Given the description of an element on the screen output the (x, y) to click on. 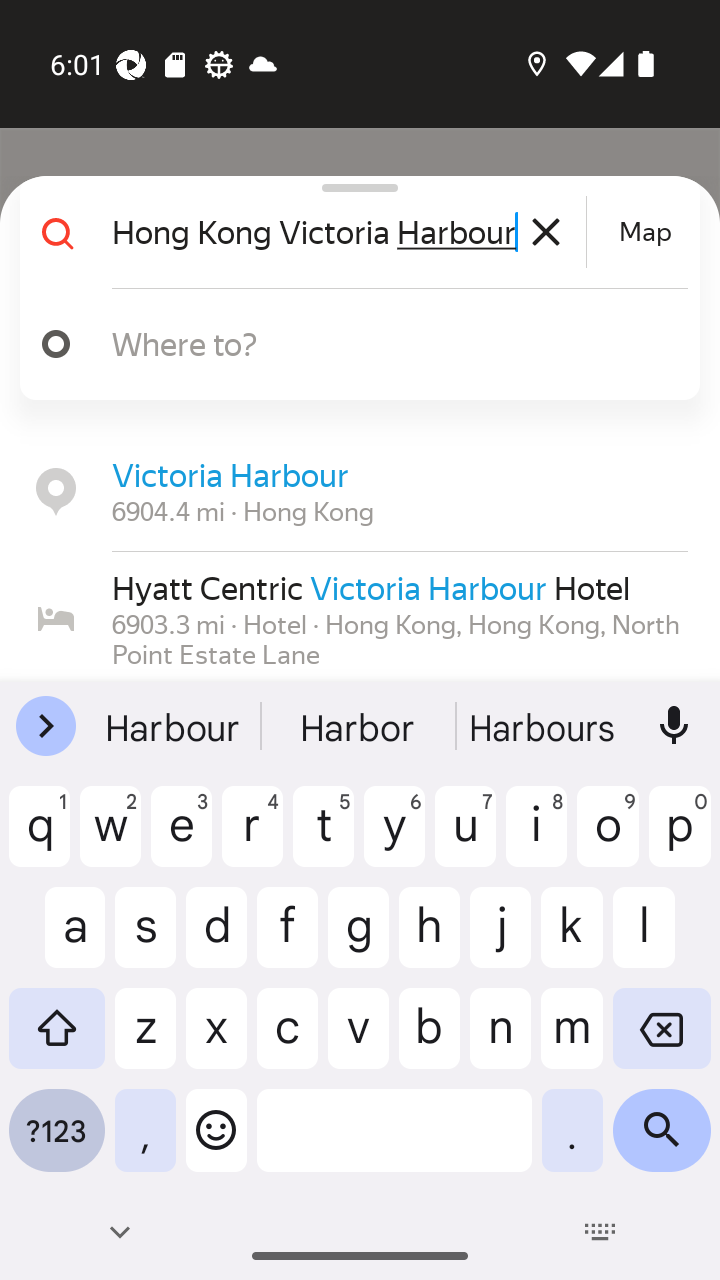
Hong Kong Victoria Harbour Clear text box Map Map (352, 232)
Map (645, 232)
Clear text box (546, 231)
Hong Kong Victoria Harbour (346, 232)
Where to? (352, 343)
Where to? (373, 343)
